Given the description of an element on the screen output the (x, y) to click on. 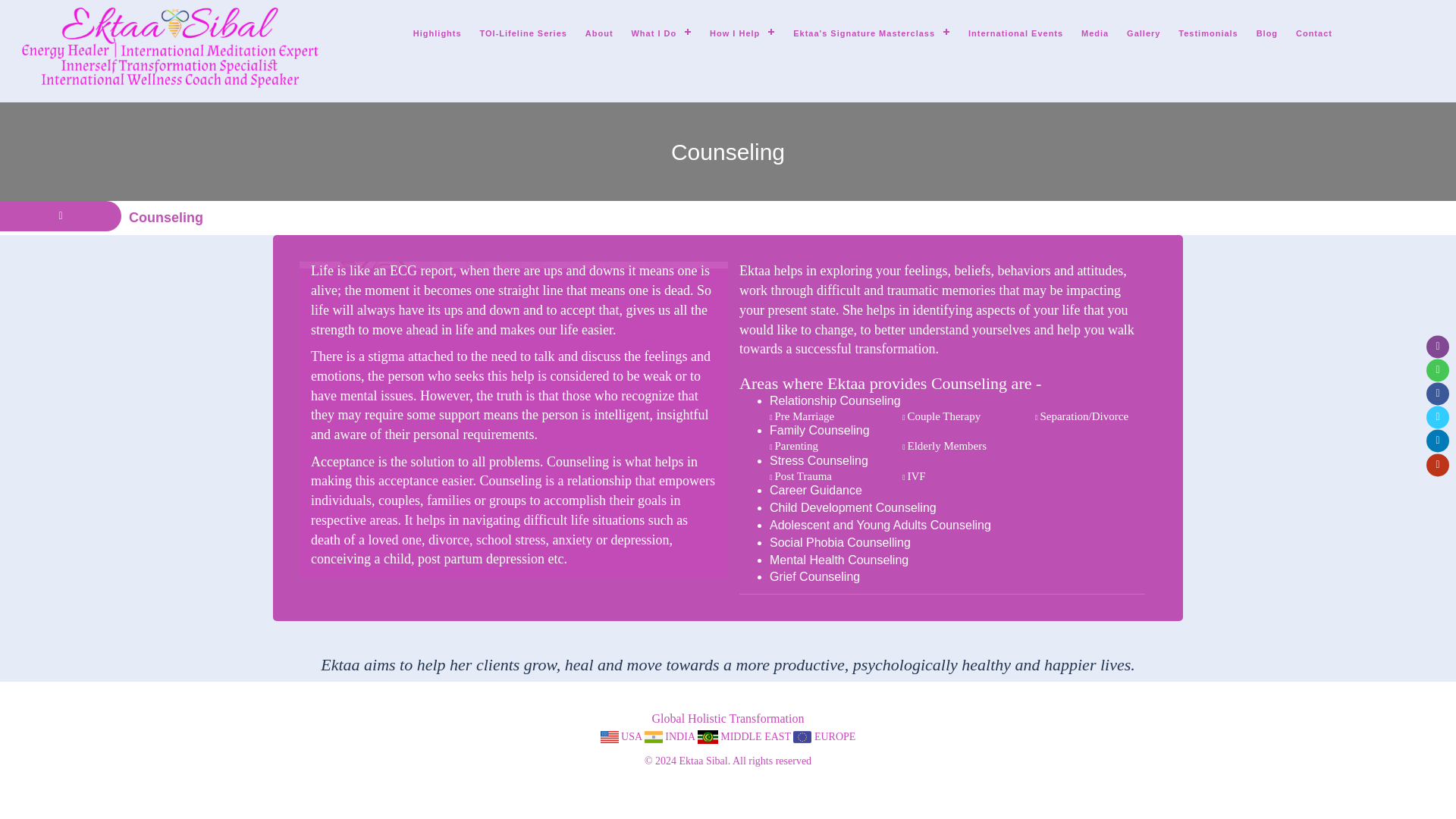
Contact (1313, 33)
Ektaa'S Signature Masterclass (872, 33)
What I Do (660, 33)
International Events (1015, 33)
Counseling (166, 217)
Blog (1267, 33)
Highlights (437, 33)
Media (1095, 33)
How I Help (742, 33)
Gallery (1143, 33)
